Given the description of an element on the screen output the (x, y) to click on. 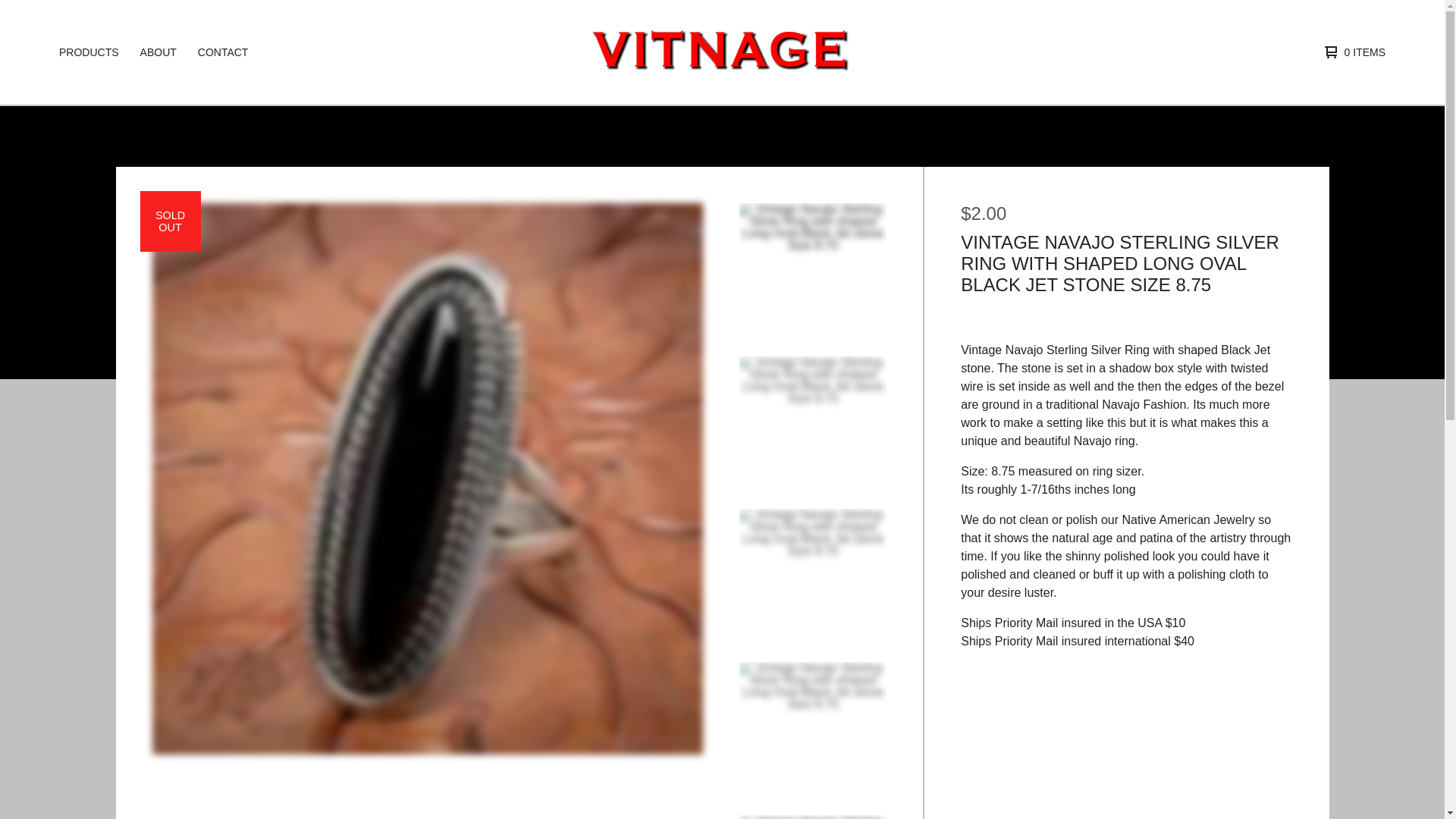
ABOUT (157, 52)
View cart (1351, 52)
PRODUCTS (89, 52)
View about (157, 52)
0 ITEMS (1351, 52)
Vitnage (720, 52)
CONTACT (223, 52)
